Given the description of an element on the screen output the (x, y) to click on. 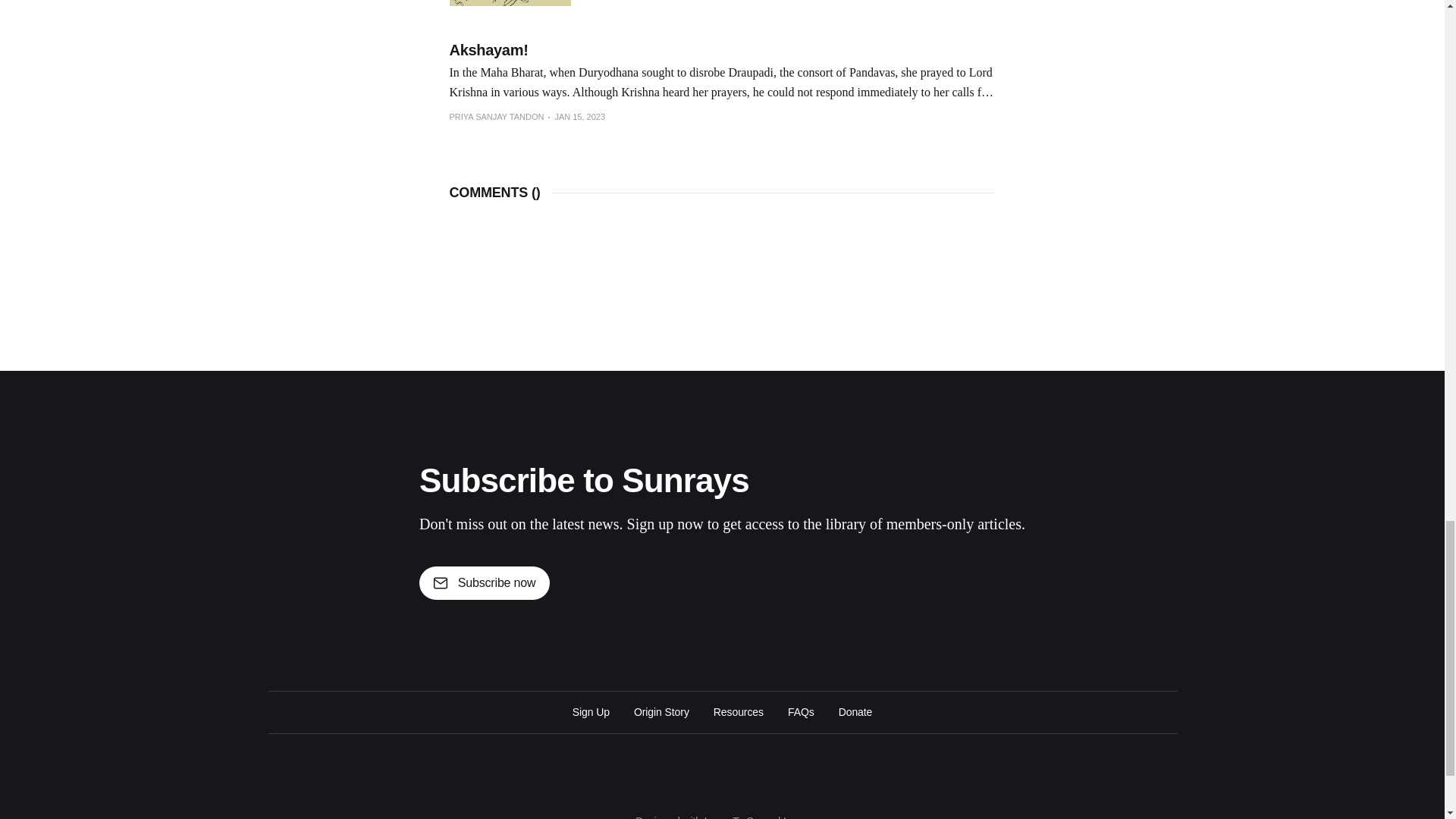
Origin Story (660, 711)
Resources (737, 711)
FAQs (800, 711)
Subscribe now (484, 582)
Sign Up (591, 711)
Donate (855, 711)
